Given the description of an element on the screen output the (x, y) to click on. 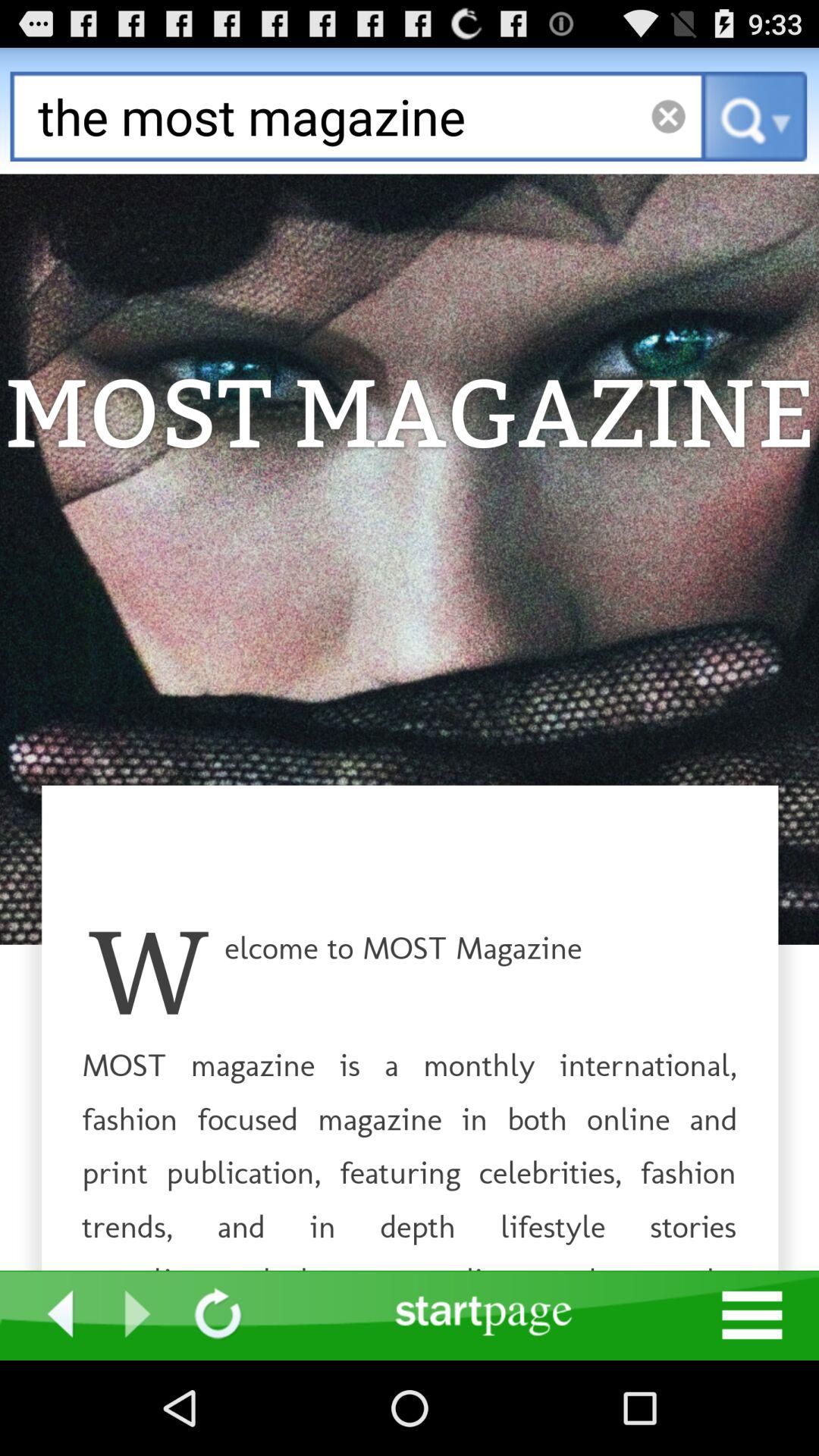
delete search (668, 116)
